Given the description of an element on the screen output the (x, y) to click on. 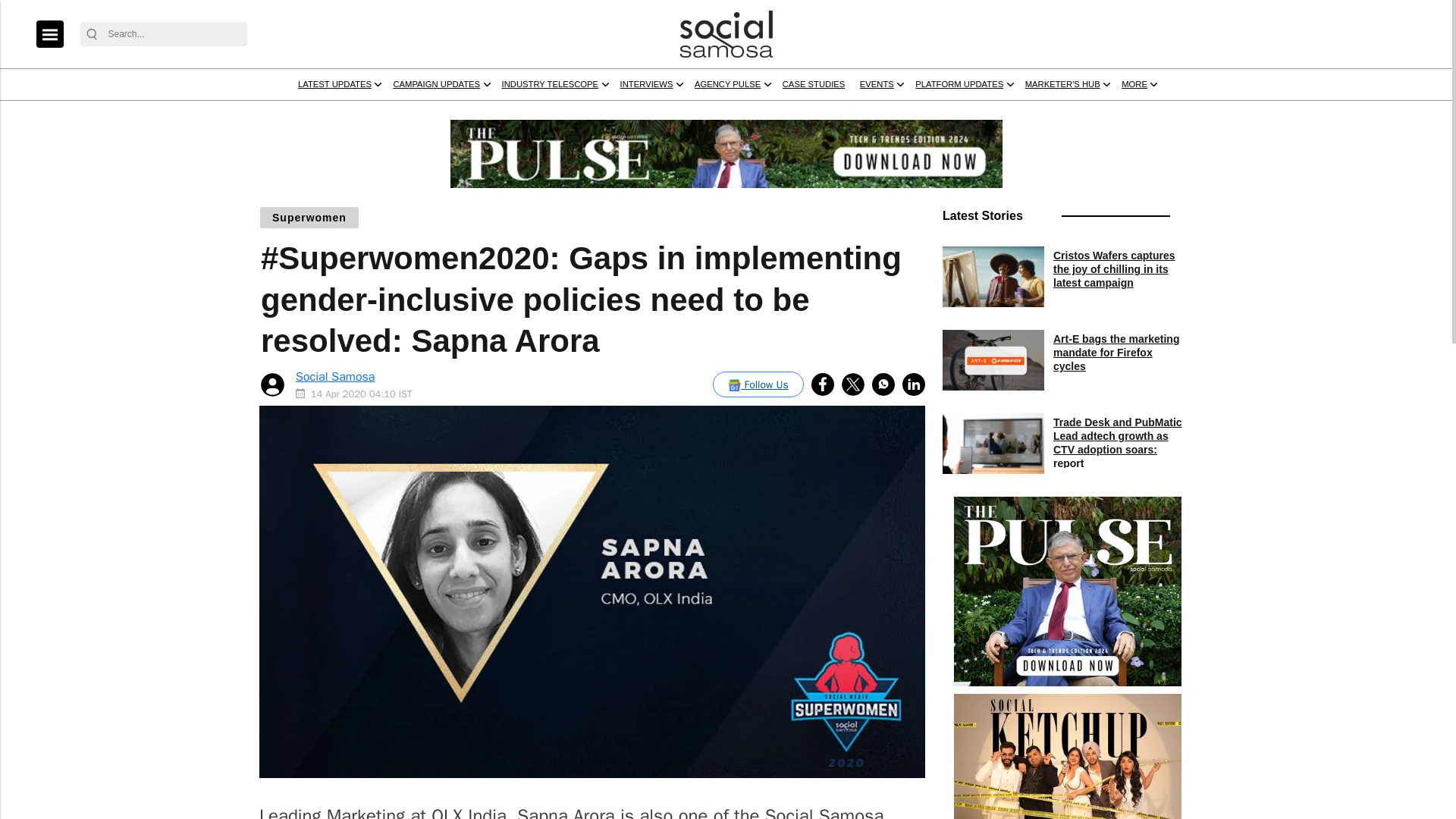
LATEST UPDATES (446, 113)
AGENCY PULSE (969, 113)
PLATFORM UPDATES (1278, 113)
INTERVIEWS (861, 113)
CASE STUDIES (1085, 113)
EVENTS (1168, 113)
INDUSTRY TELESCOPE (732, 113)
CAMPAIGN UPDATES (582, 113)
